Given the description of an element on the screen output the (x, y) to click on. 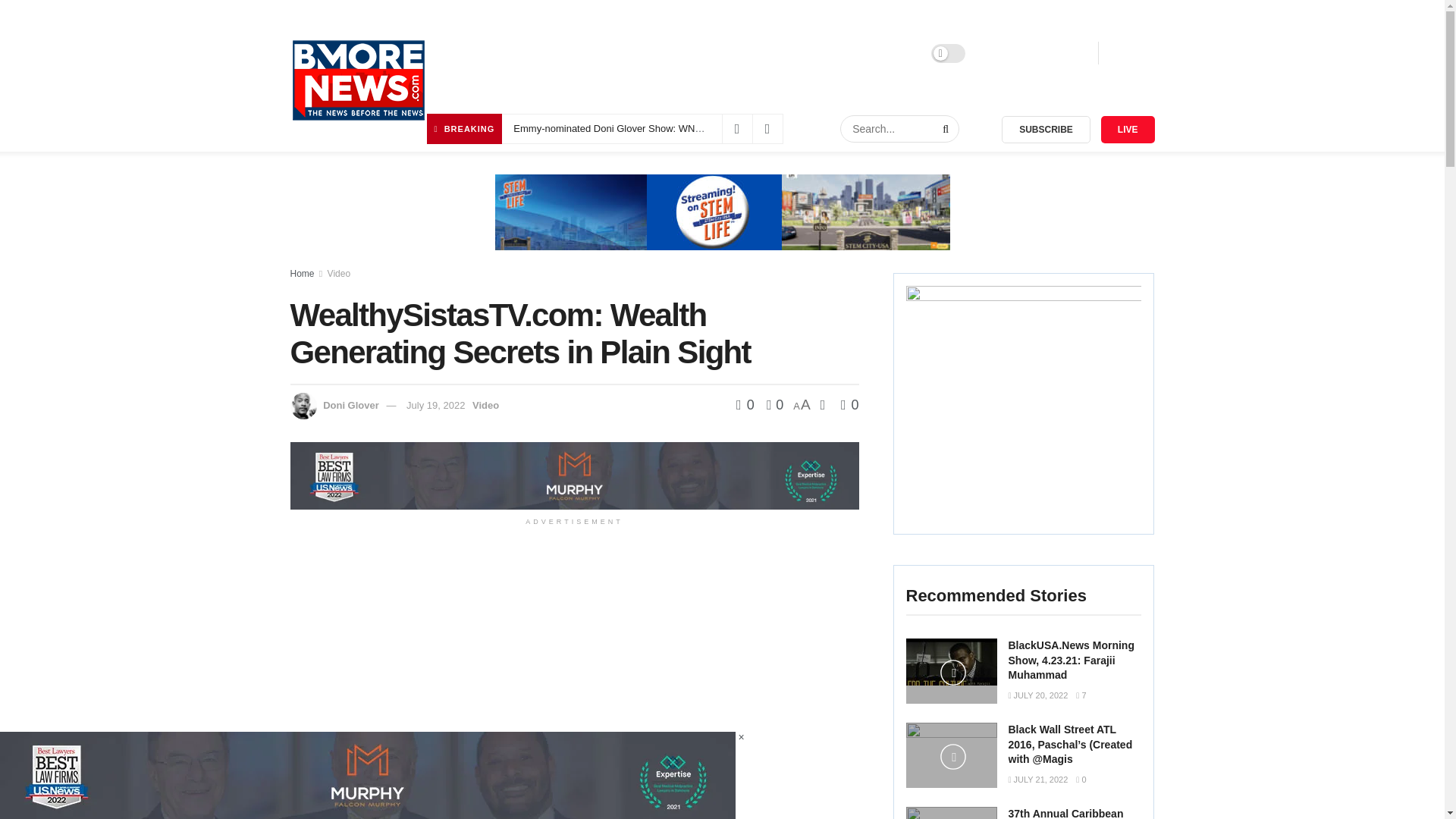
BUSINESS (707, 53)
close (740, 737)
SUBSCRIBE (1045, 129)
LATEST NEWS (491, 53)
Register (1061, 53)
BLACK WALL STREET (604, 53)
LIVE (1127, 129)
POLITICS (838, 53)
Login (1005, 53)
